Given the description of an element on the screen output the (x, y) to click on. 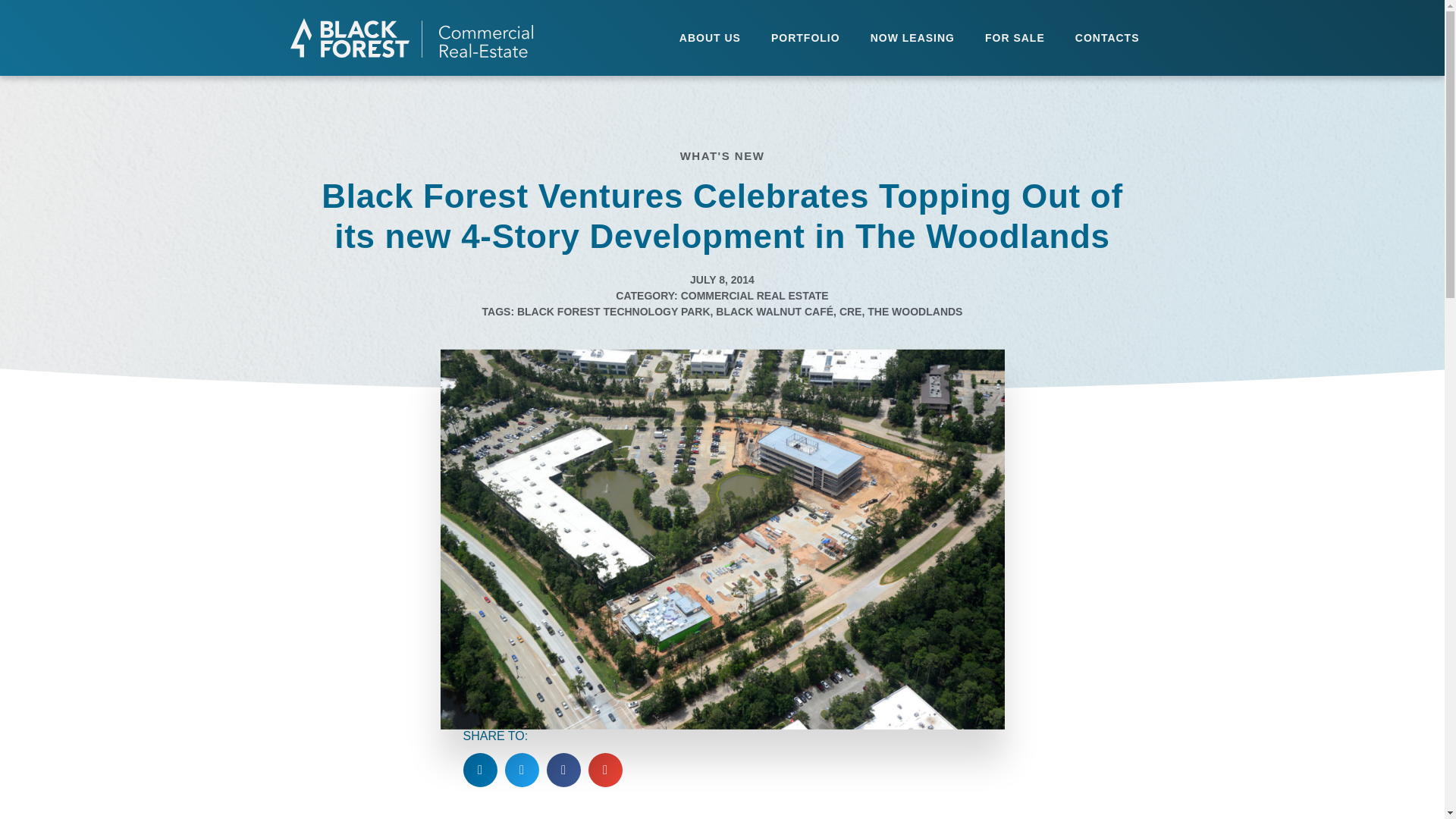
CRE (850, 311)
BLACK FOREST TECHNOLOGY PARK (613, 311)
PORTFOLIO (805, 38)
JULY 8, 2014 (722, 279)
COMMERCIAL REAL ESTATE (754, 295)
ABOUT US (709, 38)
CONTACTS (1106, 38)
FOR SALE (1014, 38)
THE WOODLANDS (914, 311)
NOW LEASING (912, 38)
